Given the description of an element on the screen output the (x, y) to click on. 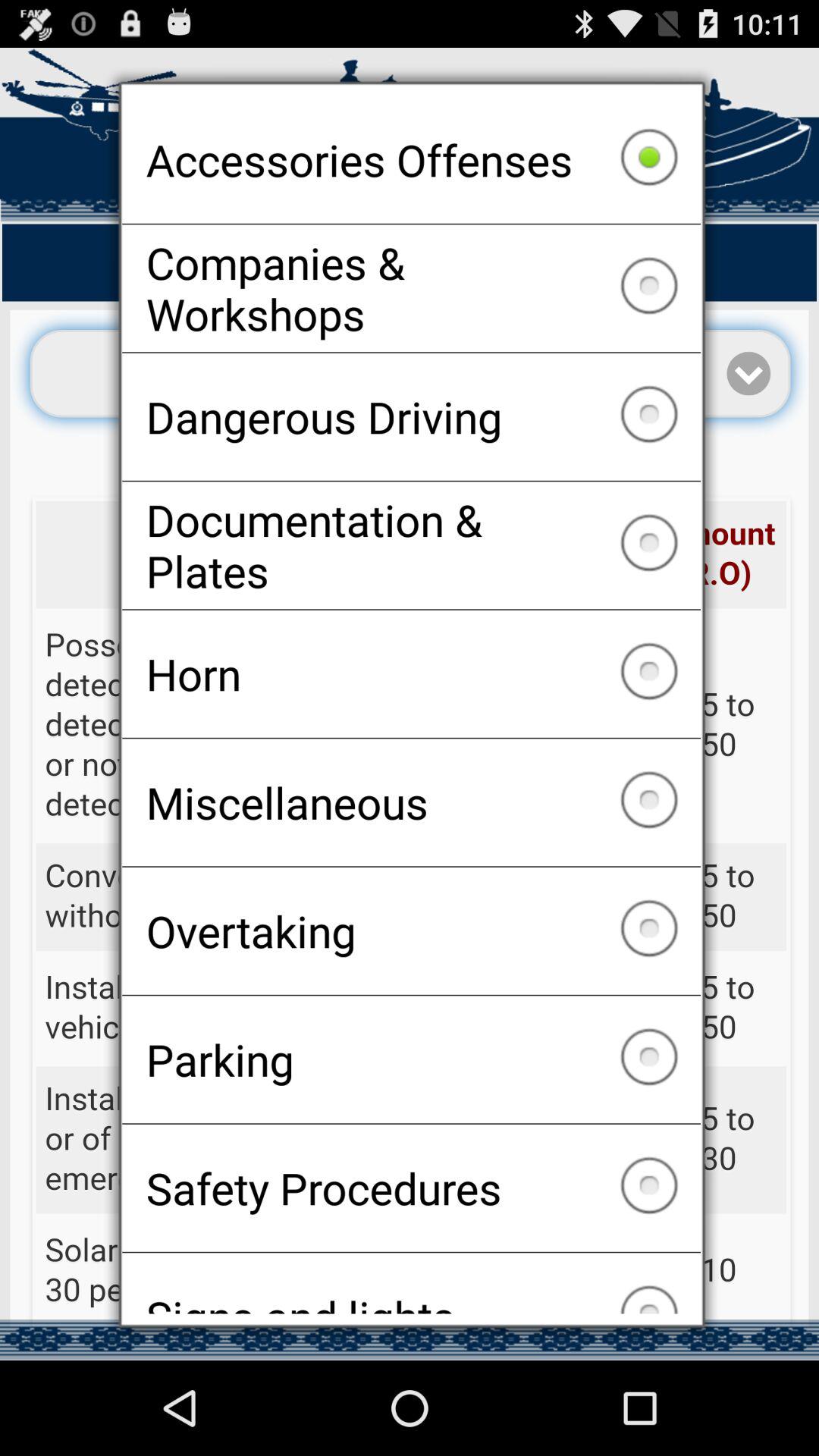
launch the dangerous driving item (411, 416)
